Given the description of an element on the screen output the (x, y) to click on. 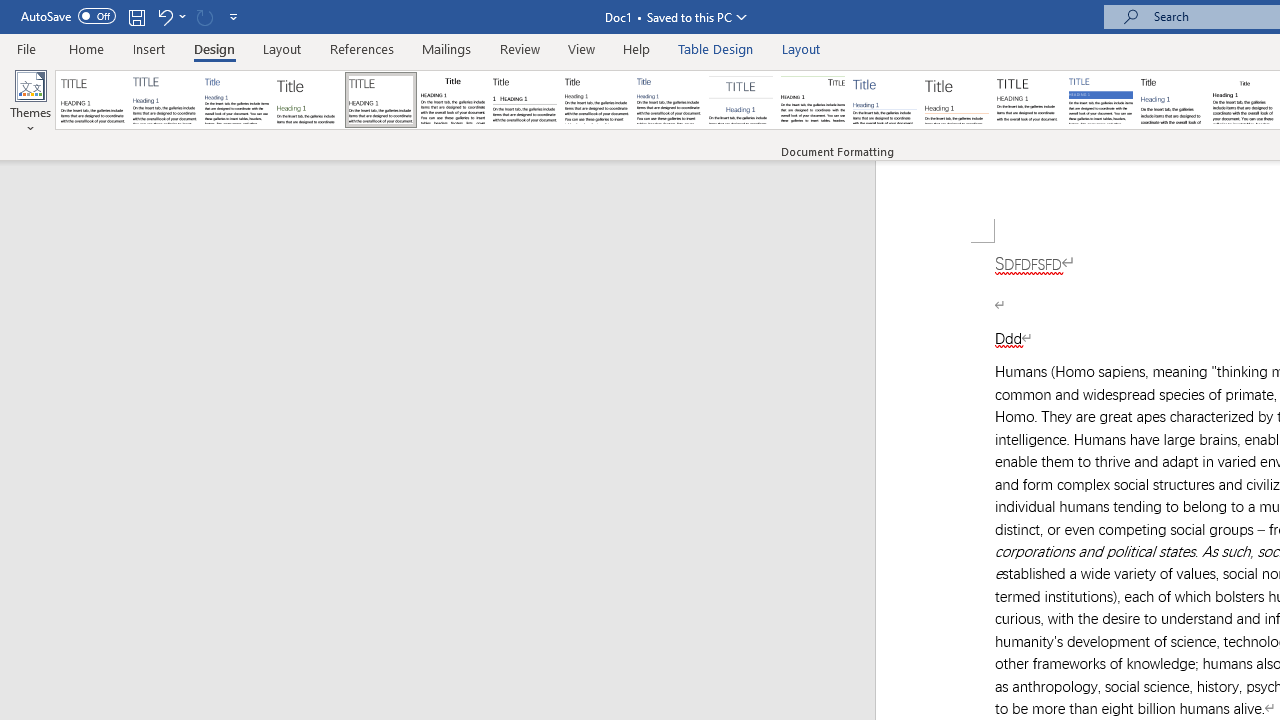
View (582, 48)
Casual (669, 100)
Basic (Stylish) (308, 100)
Centered (740, 100)
Customize Quick Access Toolbar (234, 15)
Lines (Simple) (884, 100)
Table Design (715, 48)
References (362, 48)
